Given the description of an element on the screen output the (x, y) to click on. 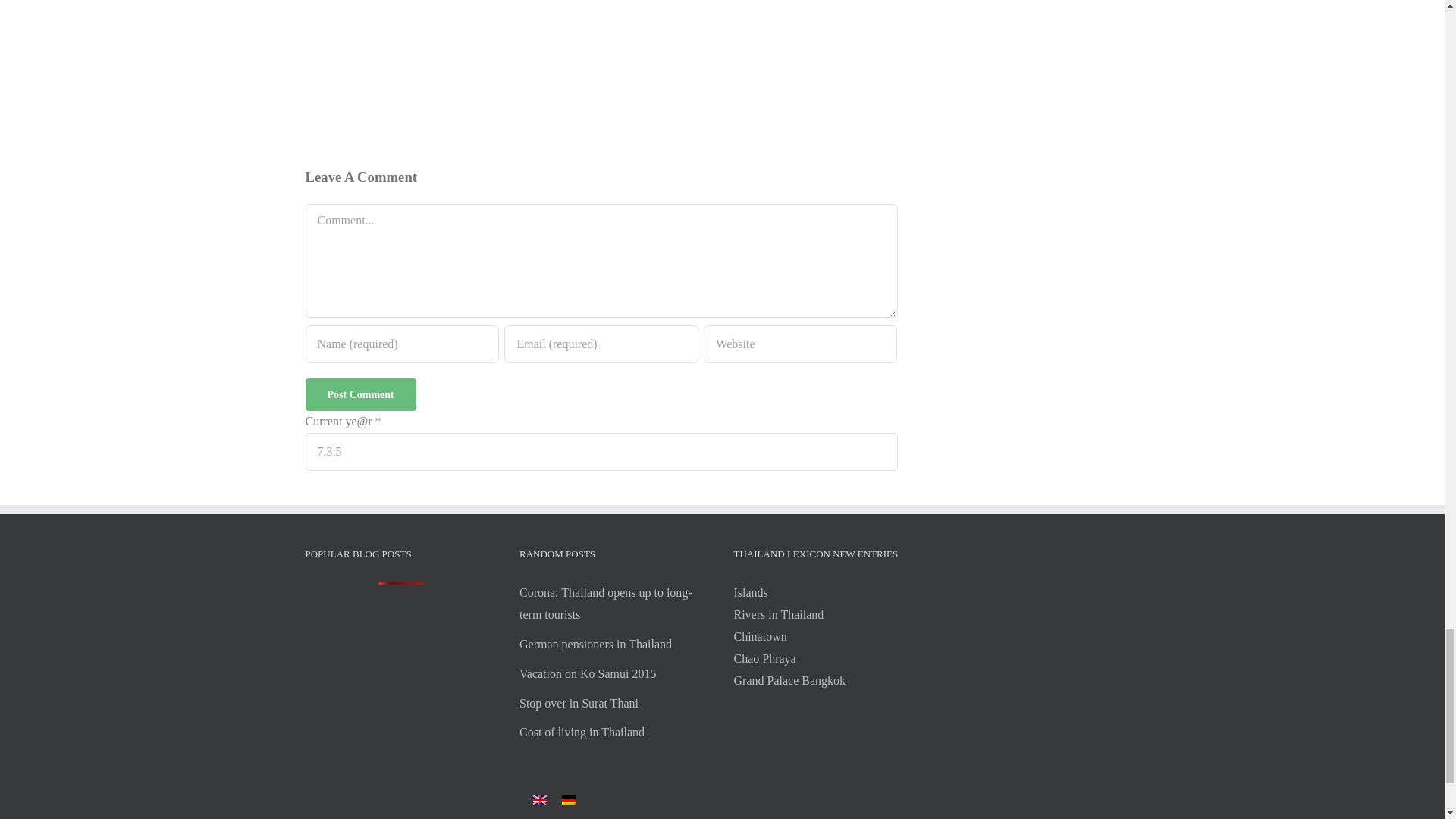
7.3.5 (600, 451)
Post Comment (359, 394)
